Given the description of an element on the screen output the (x, y) to click on. 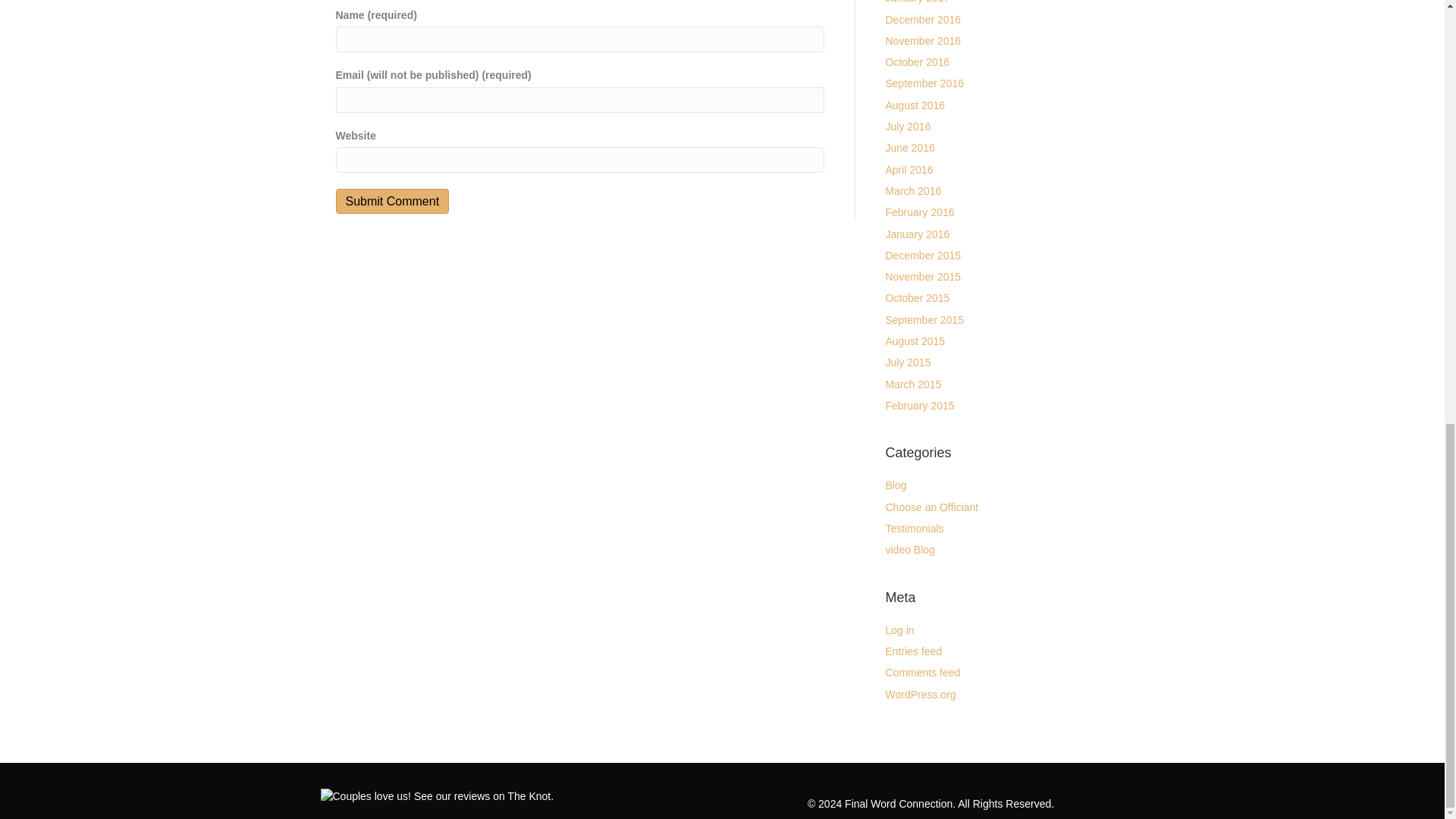
Submit Comment (391, 201)
Submit Comment (391, 201)
